Given the description of an element on the screen output the (x, y) to click on. 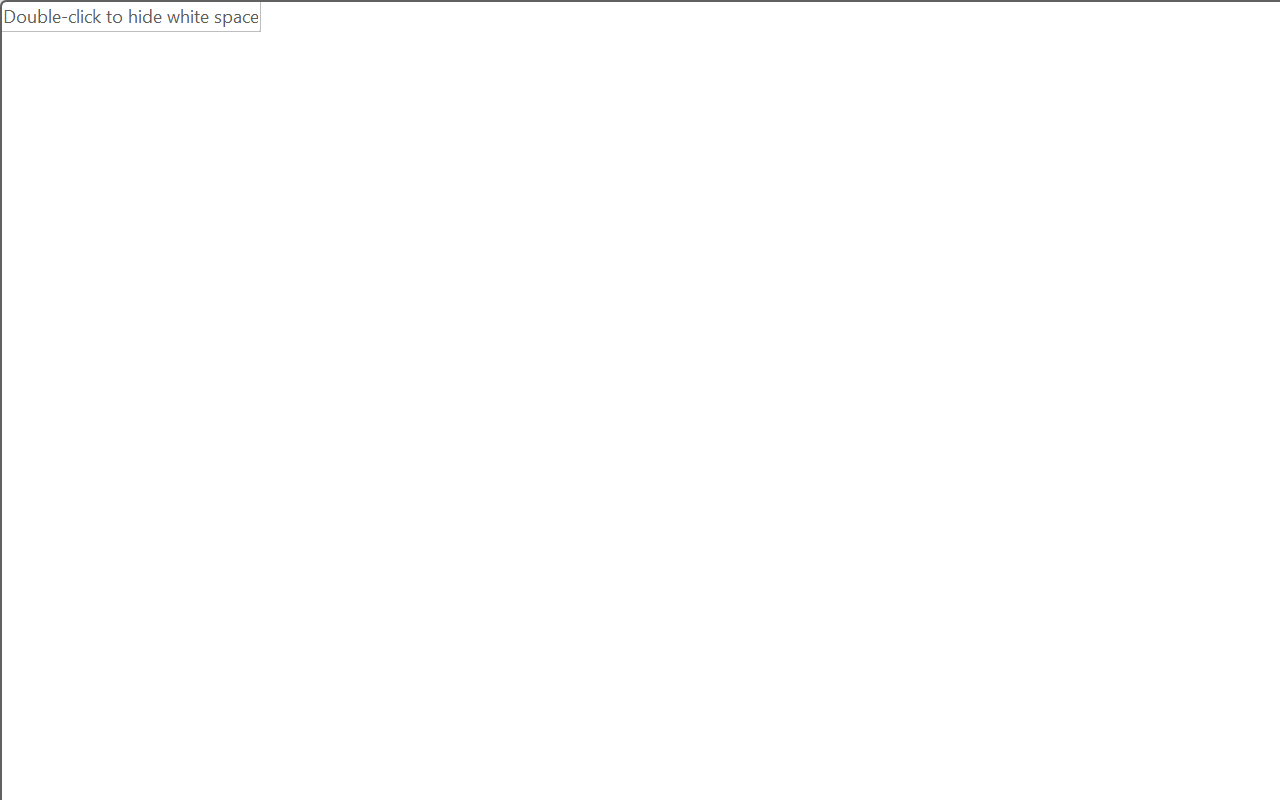
Undo Paste Destination Formatting (290, 35)
Decrease Indent (906, 153)
Shading RGB(0, 0, 0) (982, 201)
Font Color Red (556, 201)
Copy (112, 179)
Office Clipboard... (131, 252)
Paragraph... (1115, 252)
Increase Indent (944, 153)
Center (756, 201)
